Given the description of an element on the screen output the (x, y) to click on. 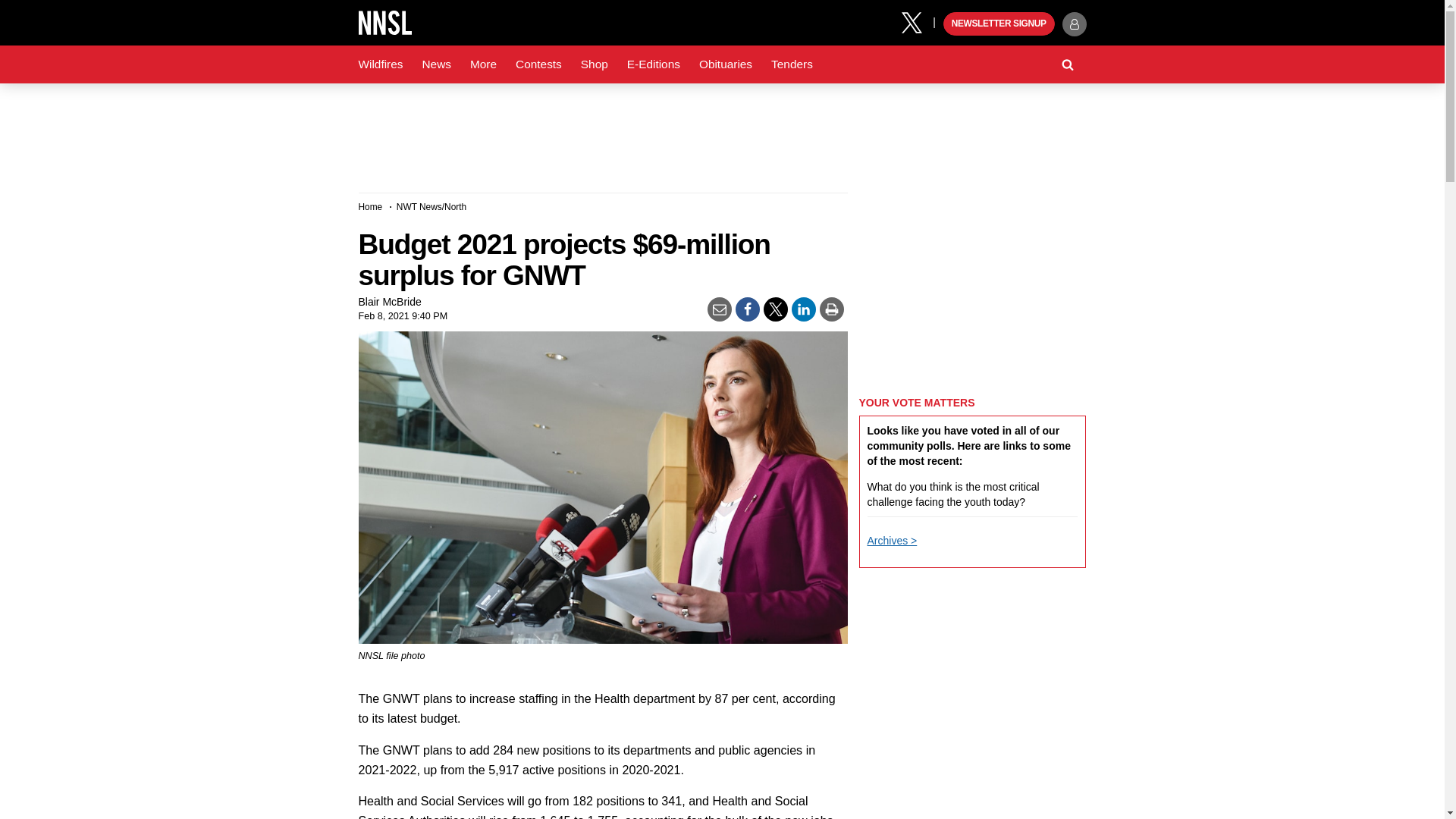
X (917, 21)
Tenders (791, 64)
E-Editions (653, 64)
NEWSLETTER SIGNUP (998, 24)
Wildfires (380, 64)
Obituaries (725, 64)
